Given the description of an element on the screen output the (x, y) to click on. 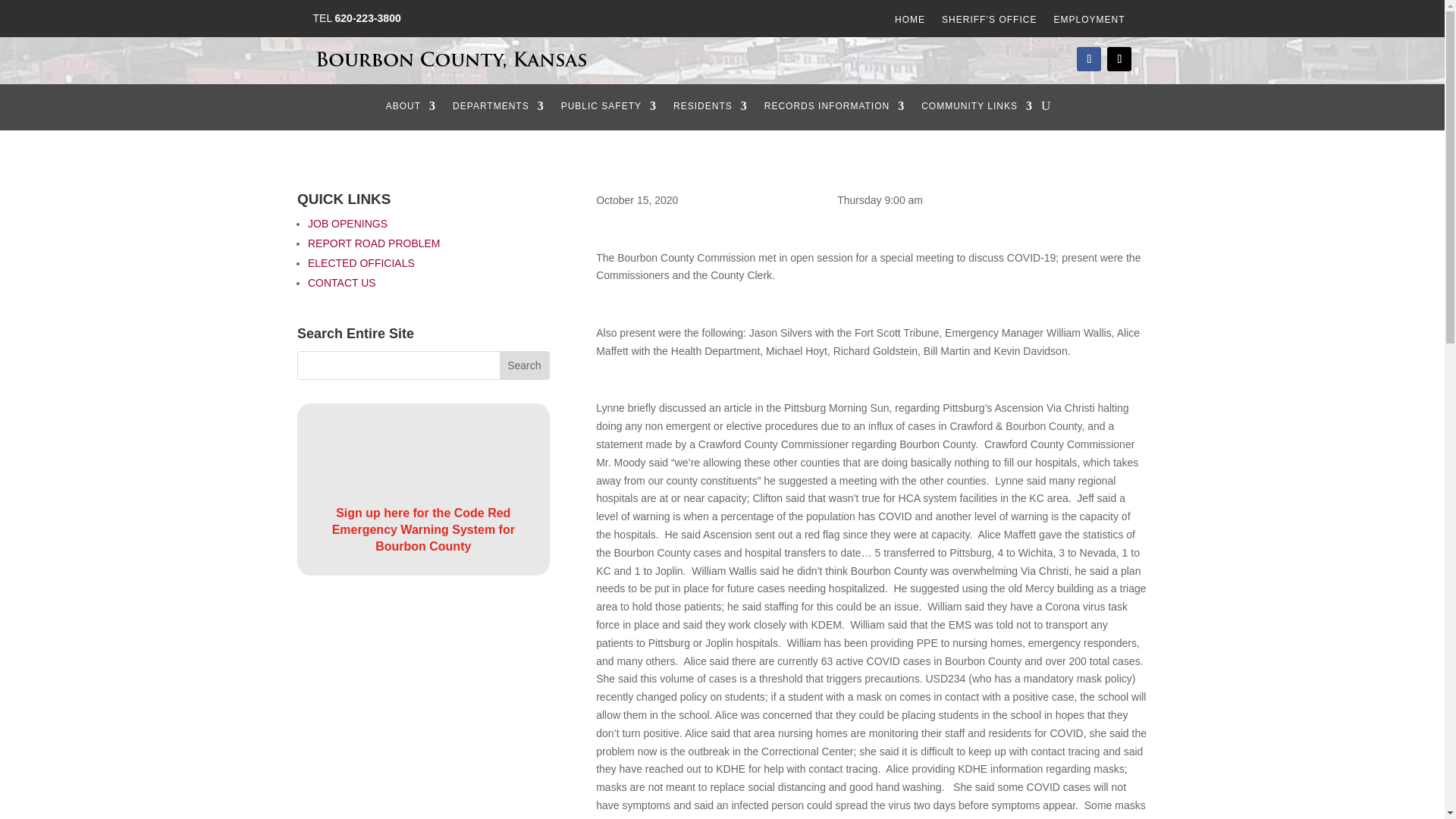
Search (523, 365)
620-223-3800 (367, 18)
Search (523, 365)
Follow on Facebook (1088, 58)
Follow on X (1118, 58)
HOME (909, 22)
EMPLOYMENT (1088, 22)
ABOUT (410, 108)
DEPARTMENTS (498, 108)
